Given the description of an element on the screen output the (x, y) to click on. 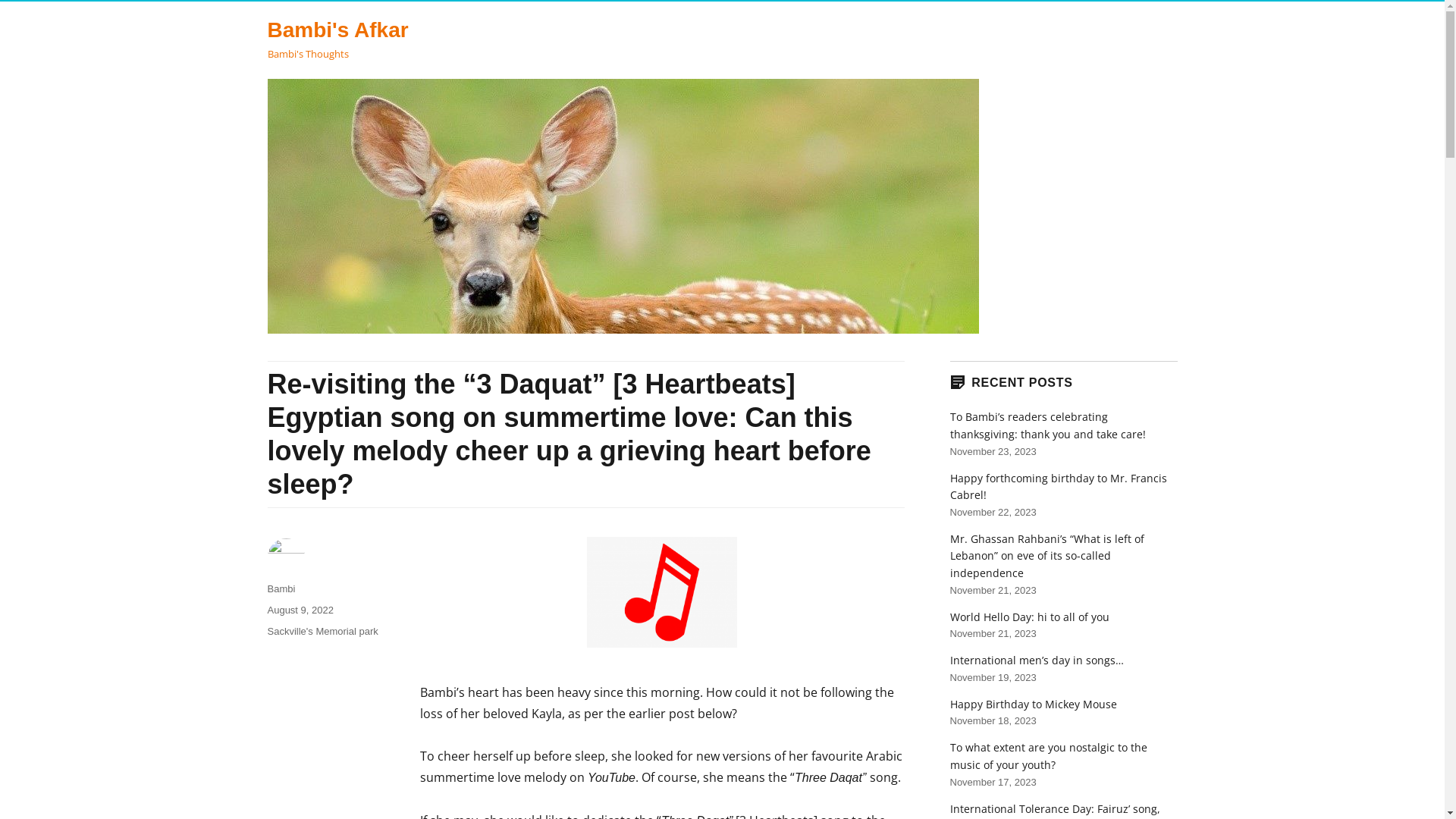
Bambi Element type: text (280, 588)
Bambi's Afkar Element type: text (336, 29)
August 9, 2022 Element type: text (299, 609)
Happy forthcoming birthday to Mr. Francis Cabrel! Element type: text (1057, 486)
World Hello Day: hi to all of you Element type: text (1028, 616)
Sackville's Memorial park Element type: text (321, 631)
Happy Birthday to Mickey Mouse Element type: text (1032, 703)
To what extent are you nostalgic to the music of your youth? Element type: text (1047, 755)
